Given the description of an element on the screen output the (x, y) to click on. 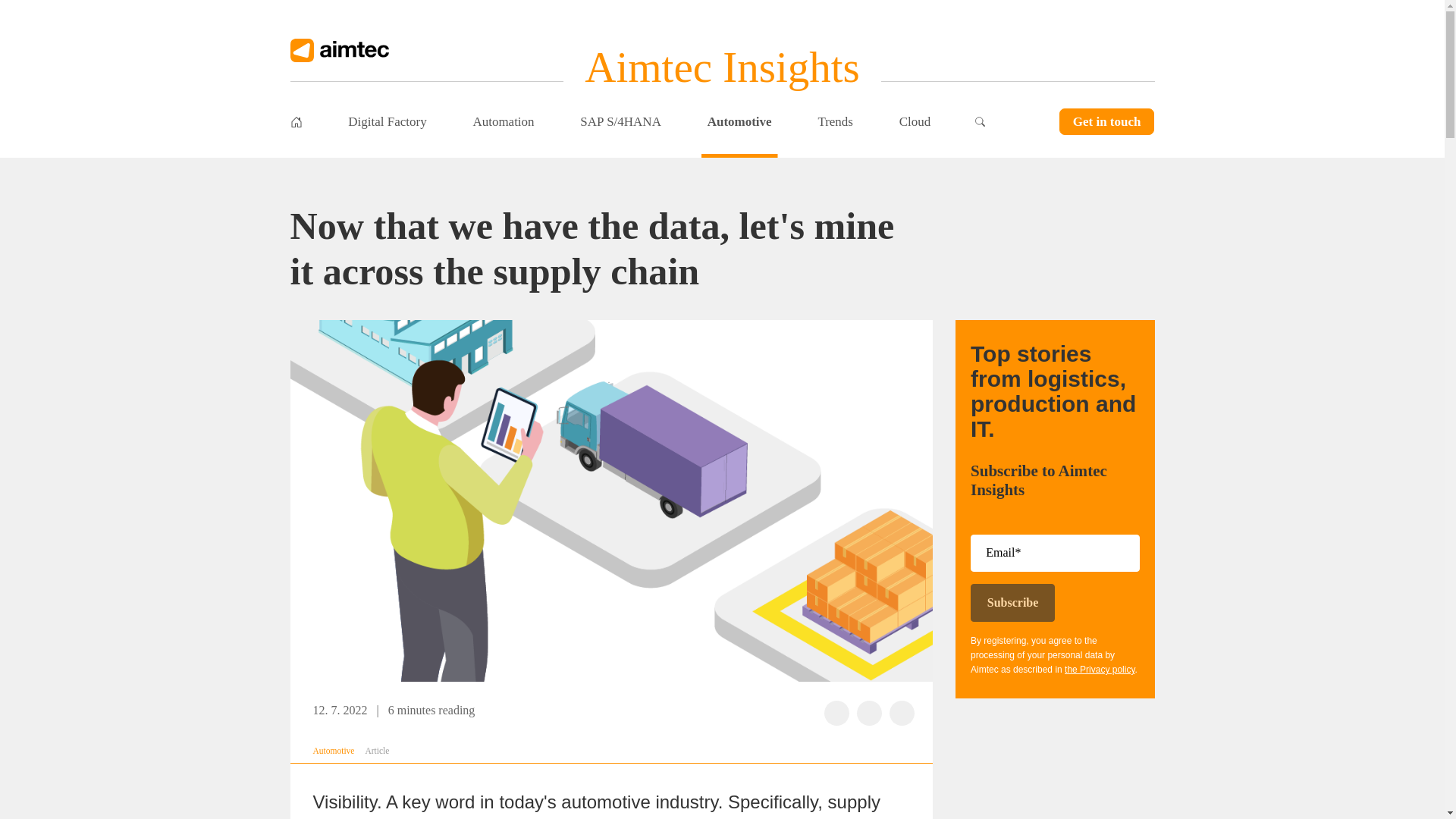
Digital Factory (387, 121)
Get in touch (1106, 121)
Automotive (739, 121)
Digital Factory (387, 121)
Subscribe (1012, 602)
Automation (502, 121)
Automotive (739, 121)
Automation (502, 121)
Automotive (333, 750)
Aimtec Insights (721, 66)
